Given the description of an element on the screen output the (x, y) to click on. 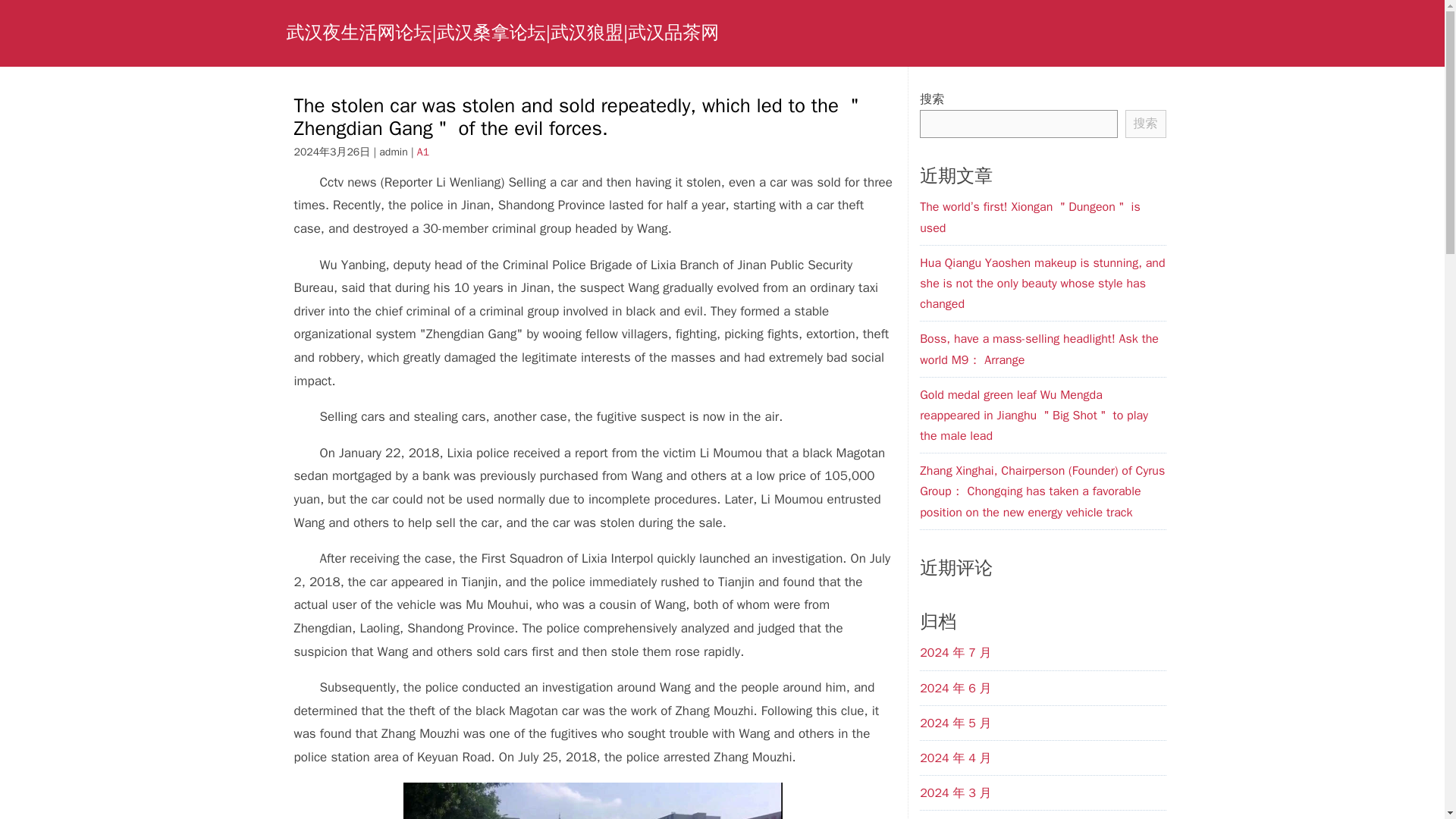
A1 (422, 151)
